Given the description of an element on the screen output the (x, y) to click on. 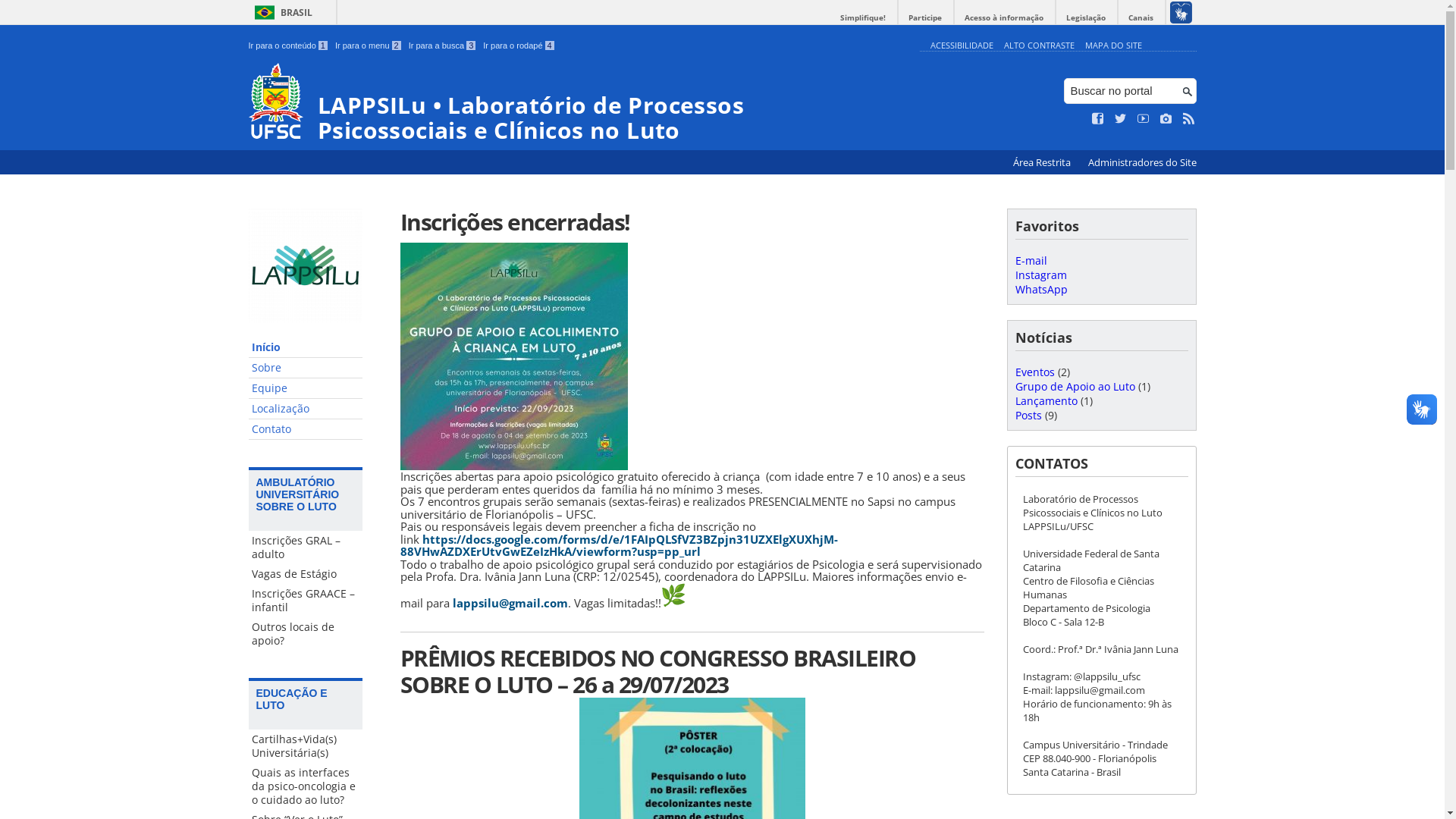
Ir para a busca 3 Element type: text (442, 45)
BRASIL Element type: text (280, 12)
Eventos Element type: text (1034, 371)
Grupo de Apoio ao Luto Element type: text (1074, 386)
Ir para o menu 2 Element type: text (368, 45)
ALTO CONTRASTE Element type: text (1039, 44)
Equipe Element type: text (305, 388)
MAPA DO SITE Element type: text (1112, 44)
Canais Element type: text (1140, 18)
Posts Element type: text (1027, 414)
Veja no Instagram Element type: hover (1166, 118)
Sobre Element type: text (305, 367)
Participe Element type: text (924, 18)
E-mail Element type: text (1030, 260)
lappsilu@gmail.com Element type: text (509, 601)
Curta no Facebook Element type: hover (1098, 118)
Contato Element type: text (305, 429)
ACESSIBILIDADE Element type: text (960, 44)
Administradores do Site Element type: text (1141, 162)
Quais as interfaces da psico-oncologia e o cuidado ao luto? Element type: text (305, 785)
Siga no Twitter Element type: hover (1120, 118)
Outros locais de apoio? Element type: text (305, 633)
WhatsApp Element type: text (1040, 289)
Simplifique! Element type: text (862, 18)
Instagram Element type: text (1040, 274)
